Given the description of an element on the screen output the (x, y) to click on. 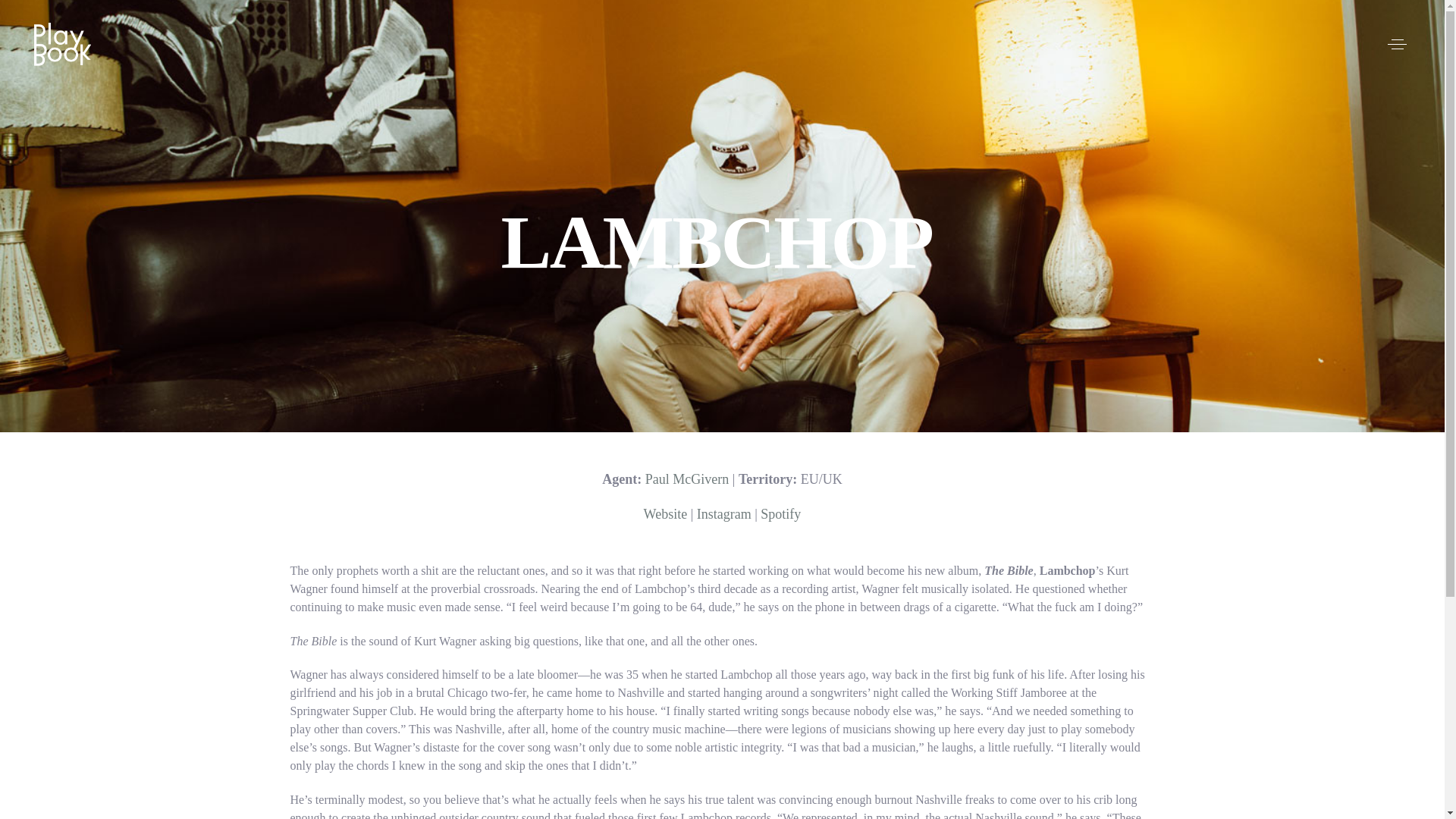
Instagram (724, 513)
Website (665, 513)
Paul McGivern (687, 478)
Spotify (780, 513)
